Given the description of an element on the screen output the (x, y) to click on. 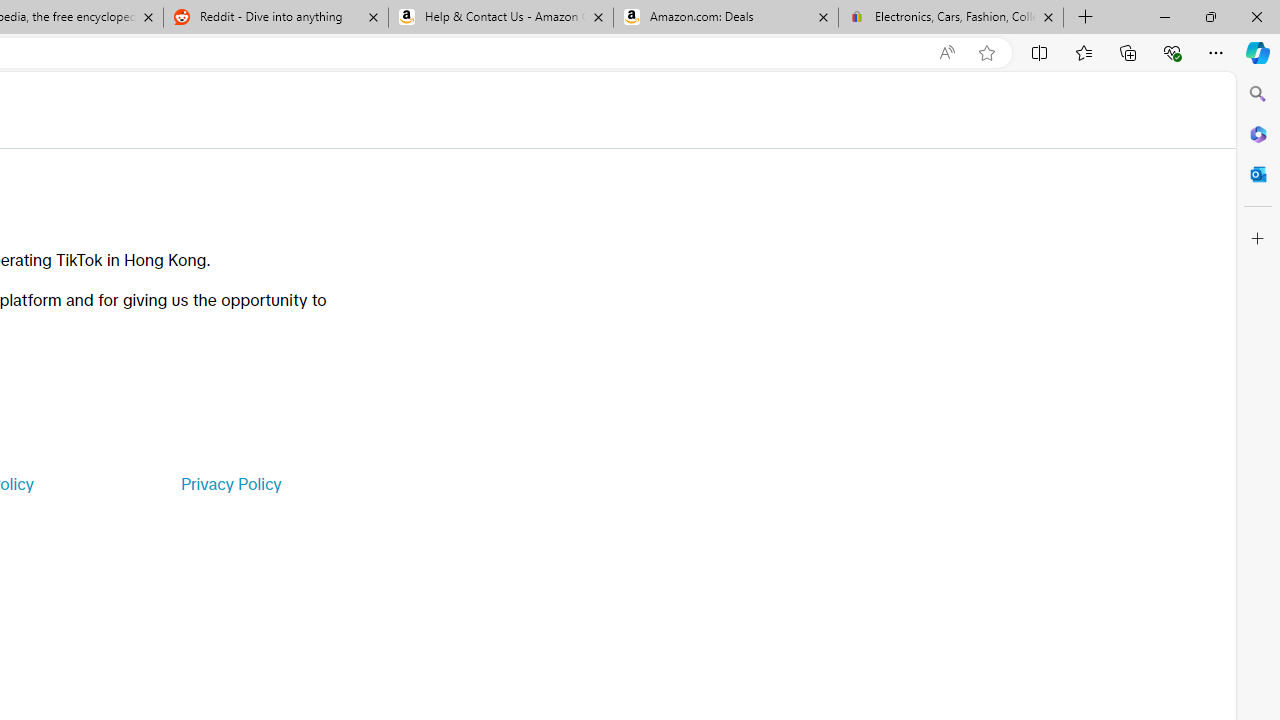
Amazon.com: Deals (726, 17)
